Given the description of an element on the screen output the (x, y) to click on. 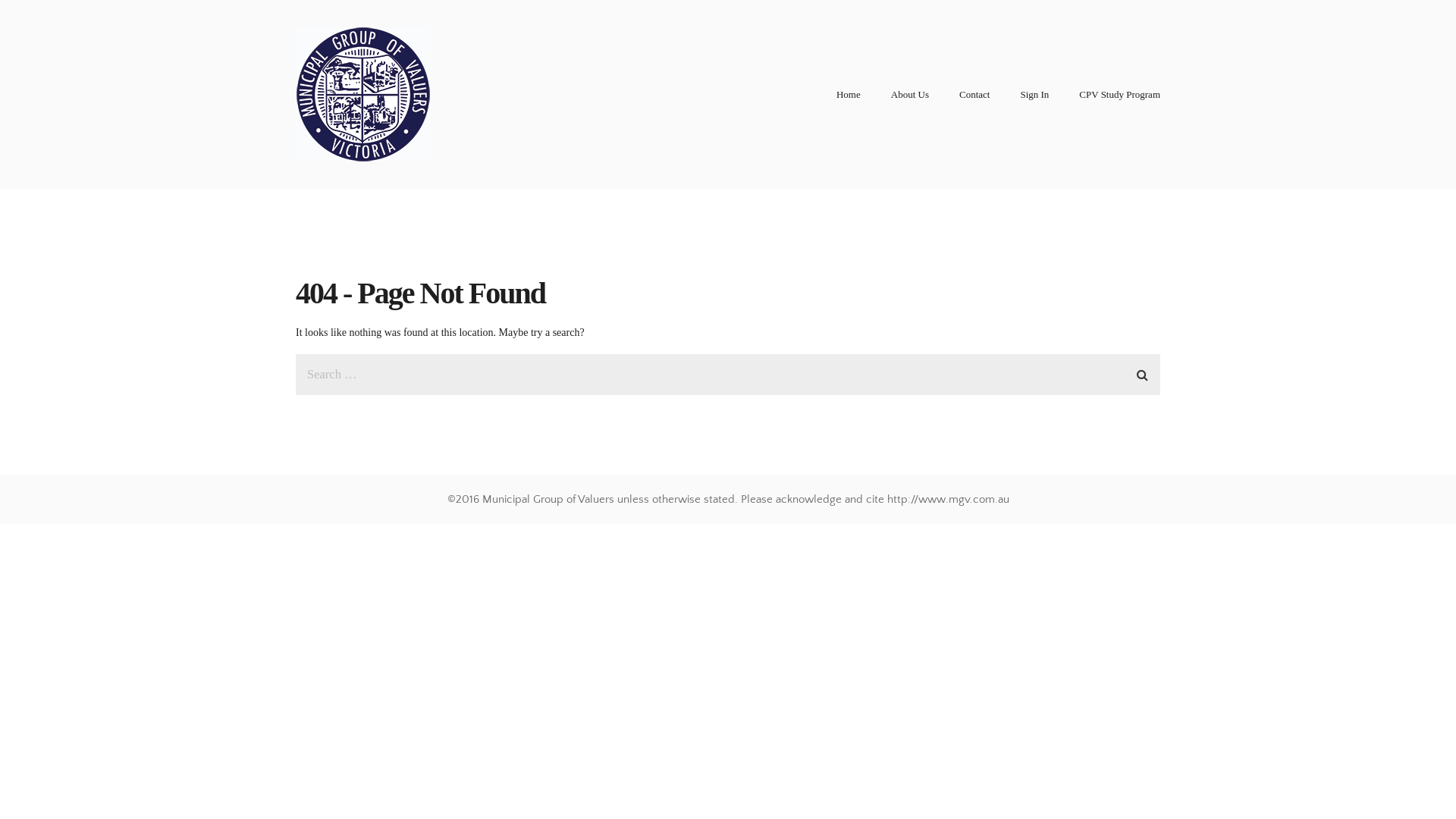
Contact Element type: text (974, 94)
Home Element type: text (848, 94)
CPV Study Program Element type: text (1119, 94)
Search Element type: text (1141, 371)
Sign In Element type: text (1033, 94)
About Us Element type: text (909, 94)
